Given the description of an element on the screen output the (x, y) to click on. 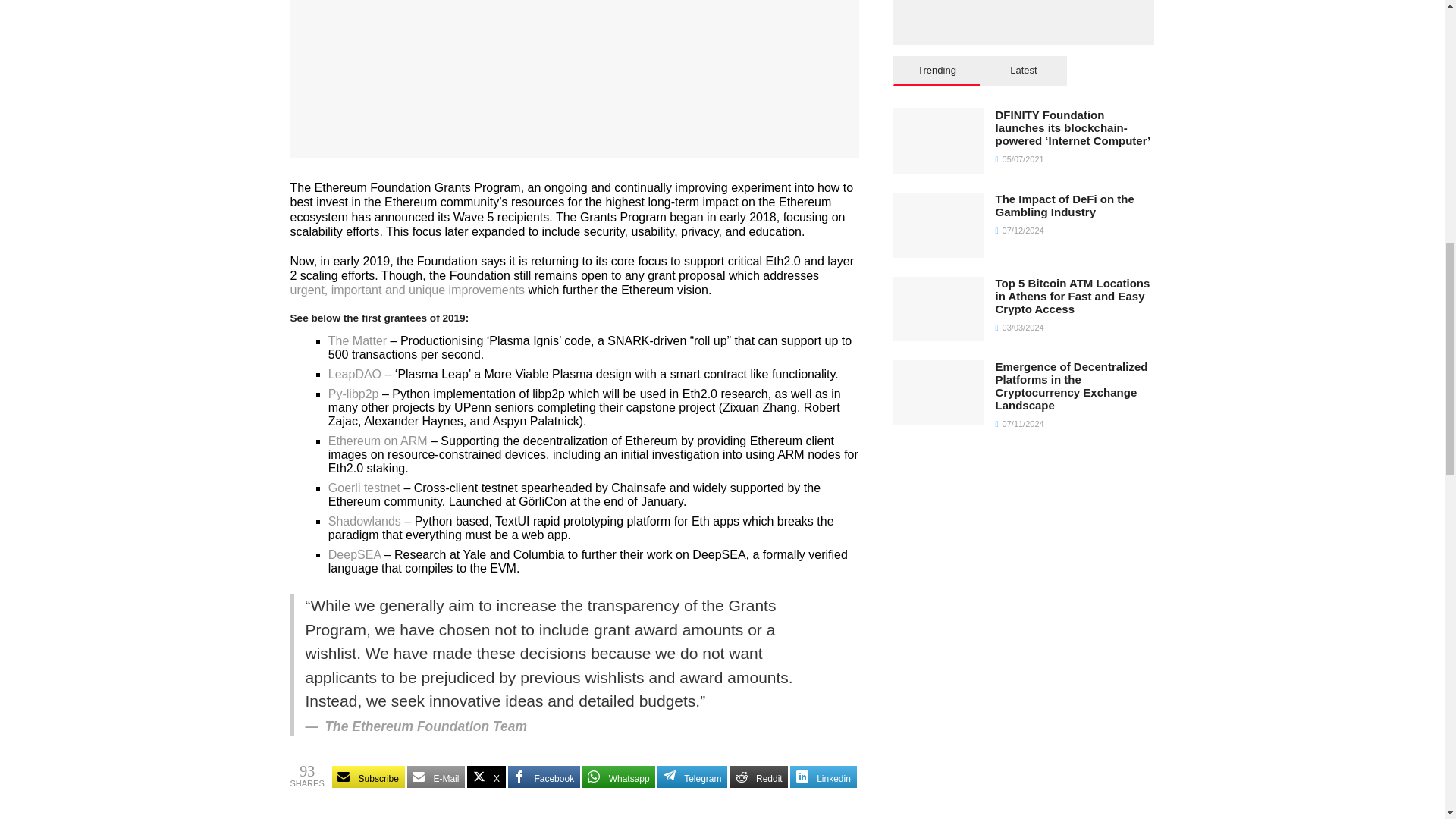
Py-libp2p (353, 393)
Goerli testnet (364, 487)
urgent, important and unique improvements (406, 289)
Ethereum on ARM (378, 440)
The Matter (358, 340)
3rd party ad content (1023, 14)
DeepSEA (354, 554)
LeapDAO (355, 373)
Shadowlands (365, 521)
